Given the description of an element on the screen output the (x, y) to click on. 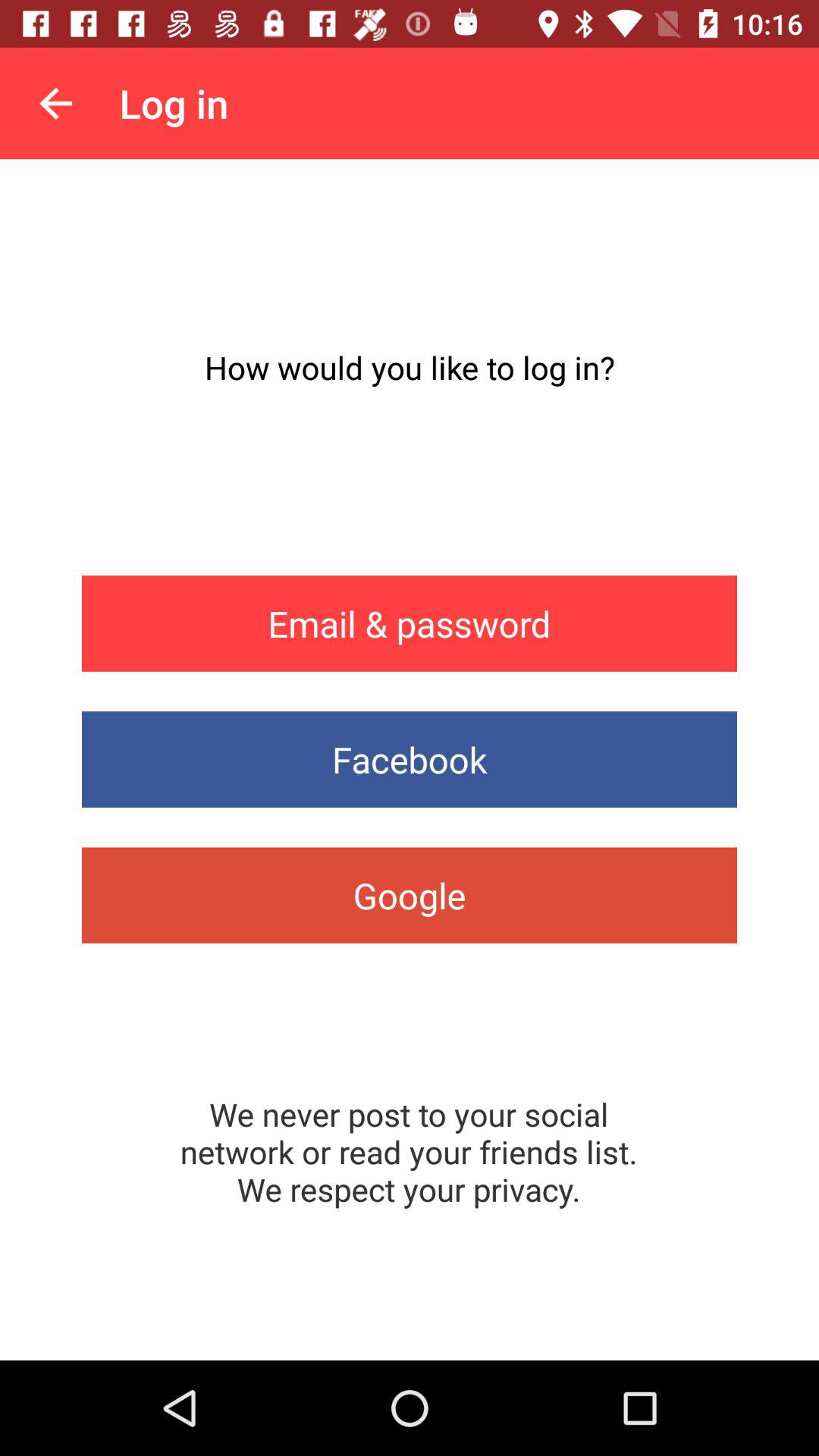
jump to facebook app (409, 759)
